Given the description of an element on the screen output the (x, y) to click on. 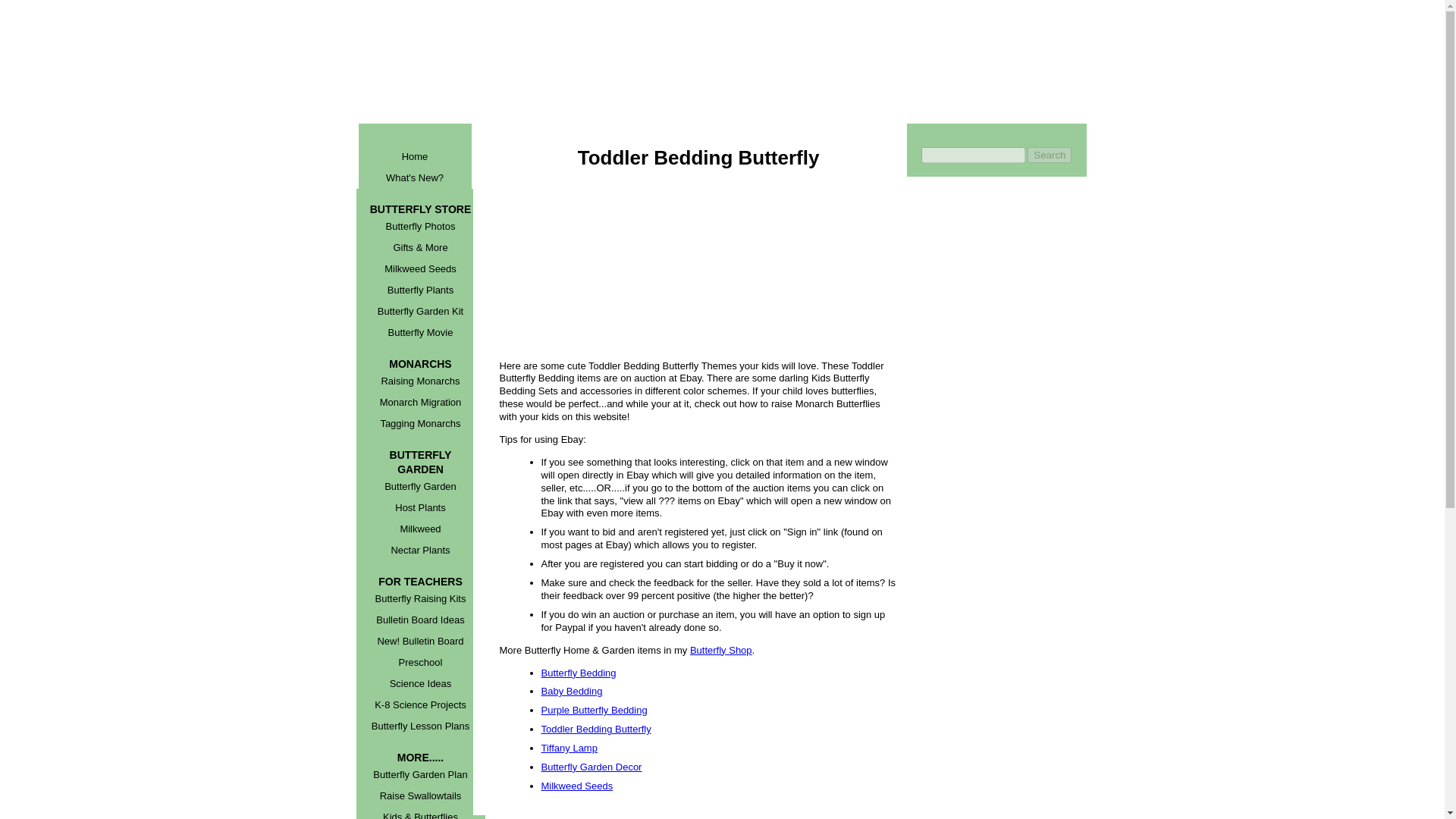
Butterfly Photos (420, 226)
Butterfly Lesson Plans (420, 726)
Science Ideas (420, 683)
Tagging Monarchs (420, 423)
Milkweed Seeds (420, 269)
Raise Swallowtails (420, 795)
Nectar Plants (420, 550)
Host Plants (420, 507)
Butterfly Raising Kits (420, 598)
Bulletin Board Ideas (420, 619)
